Given the description of an element on the screen output the (x, y) to click on. 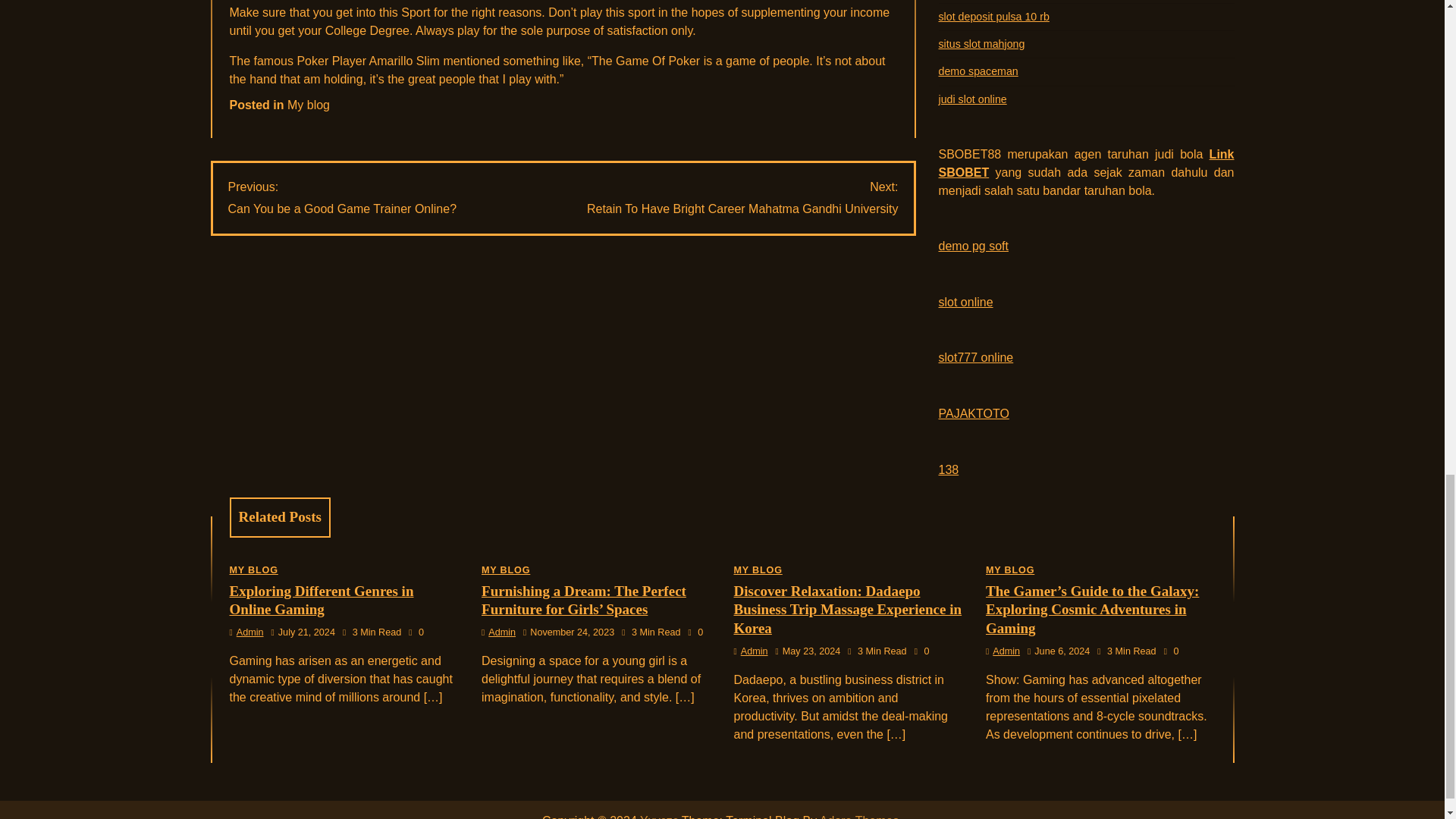
My blog (342, 198)
